Given the description of an element on the screen output the (x, y) to click on. 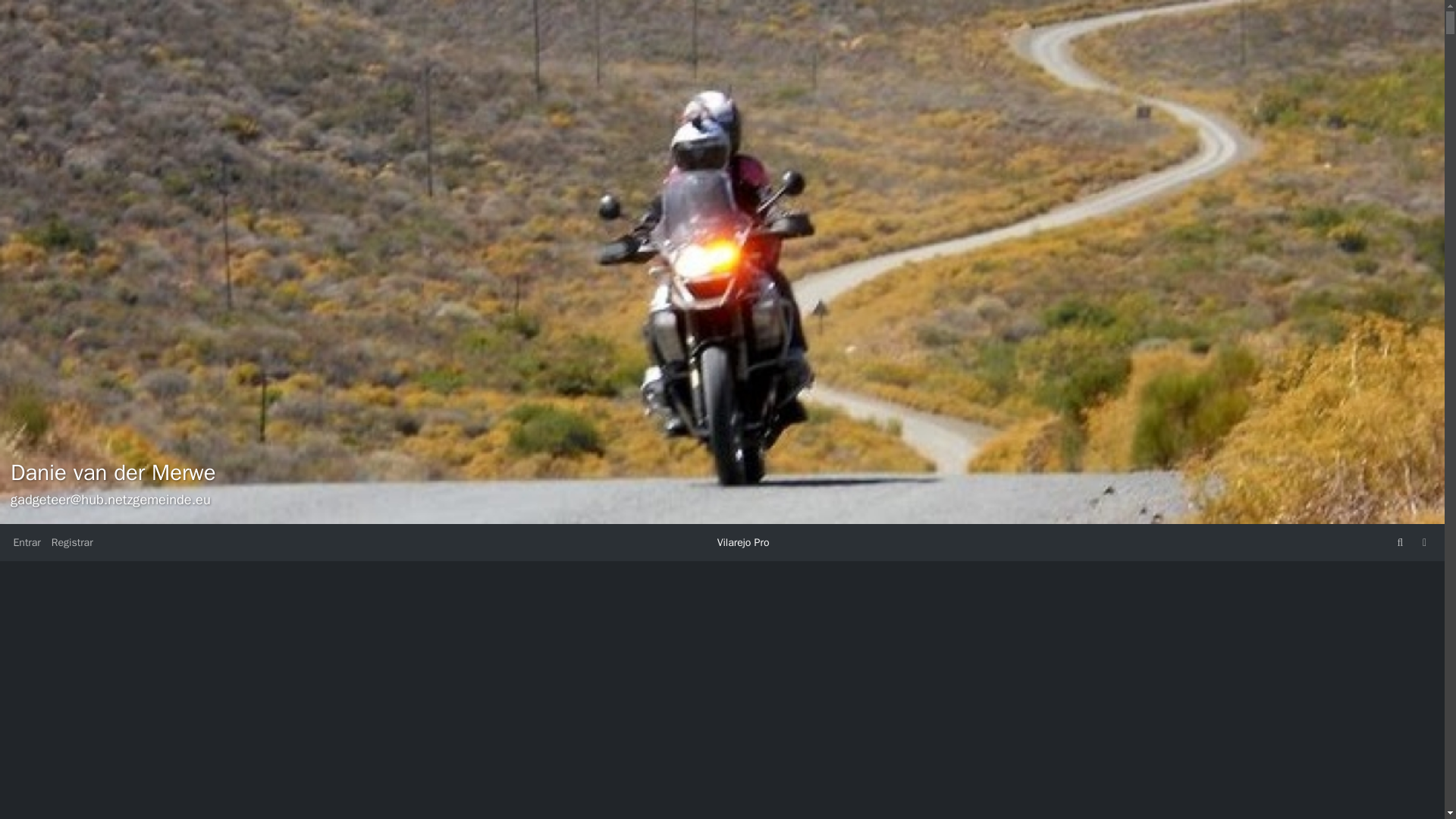
Criar uma conta (72, 542)
Entrar (26, 542)
Registrar (72, 542)
Entrar (26, 542)
